Given the description of an element on the screen output the (x, y) to click on. 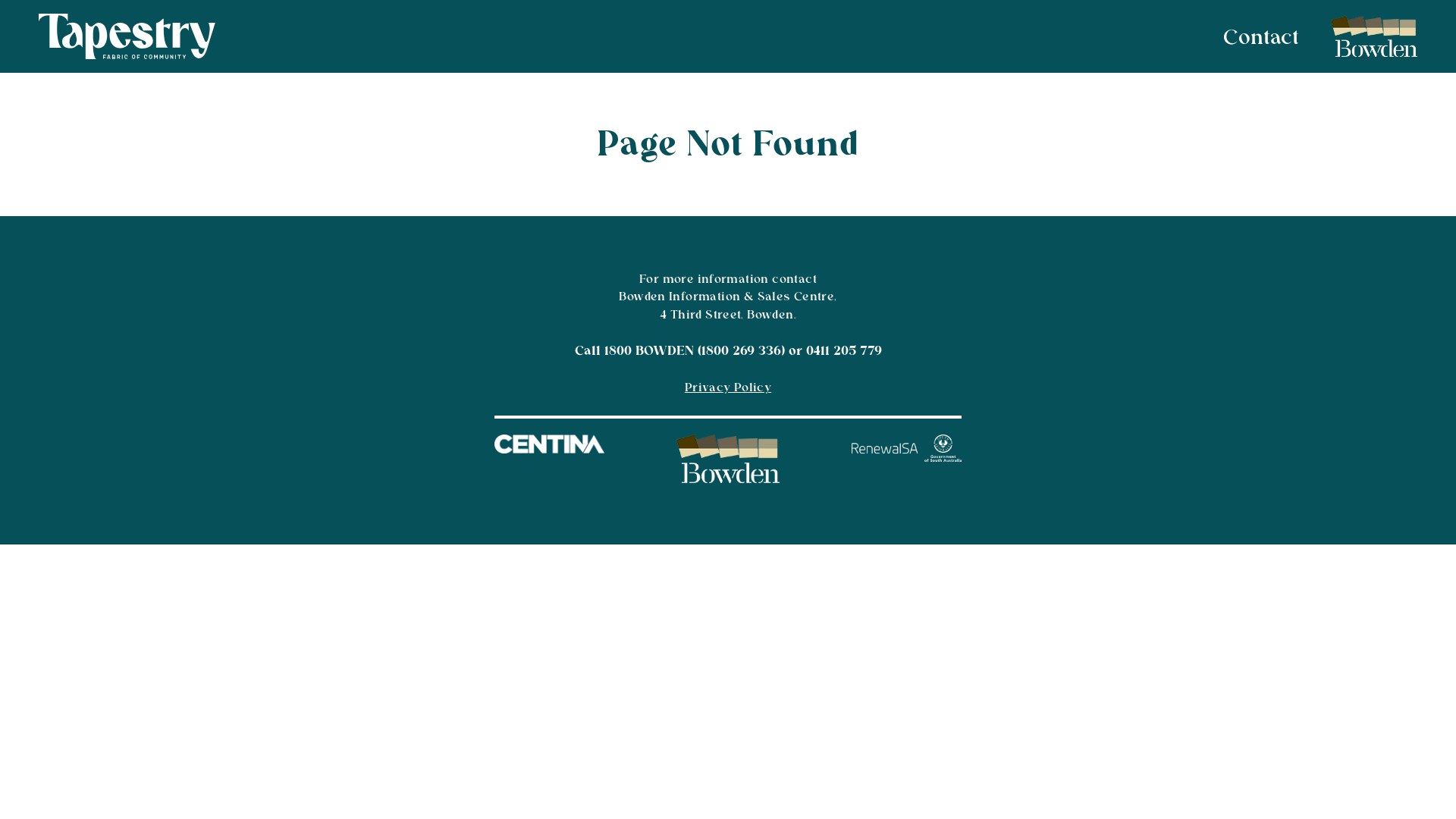
Privacy Policy Element type: text (727, 387)
Contact Element type: text (1251, 35)
